Given the description of an element on the screen output the (x, y) to click on. 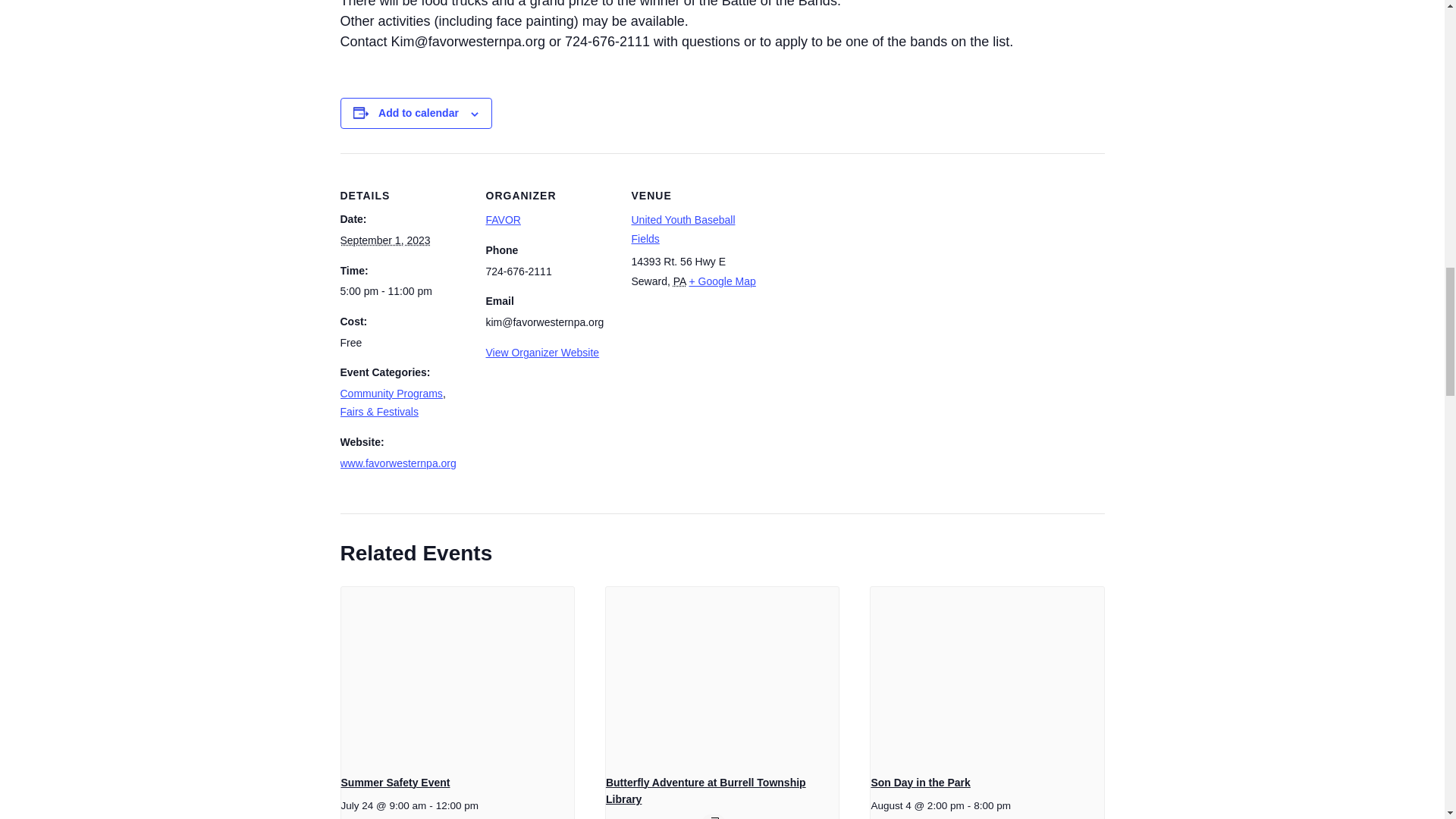
Add to calendar (418, 112)
Community Programs (390, 393)
Summer Safety Event (394, 782)
2023-09-01 (403, 291)
United Youth Baseball Fields (682, 228)
FAVOR (501, 219)
Pennsylvania (678, 280)
FAVOR (501, 219)
View Organizer Website (541, 352)
Click to view a Google Map (721, 280)
Butterfly Adventure at Burrell Township Library (705, 790)
Son Day in the Park (919, 782)
2023-09-01 (384, 240)
